Given the description of an element on the screen output the (x, y) to click on. 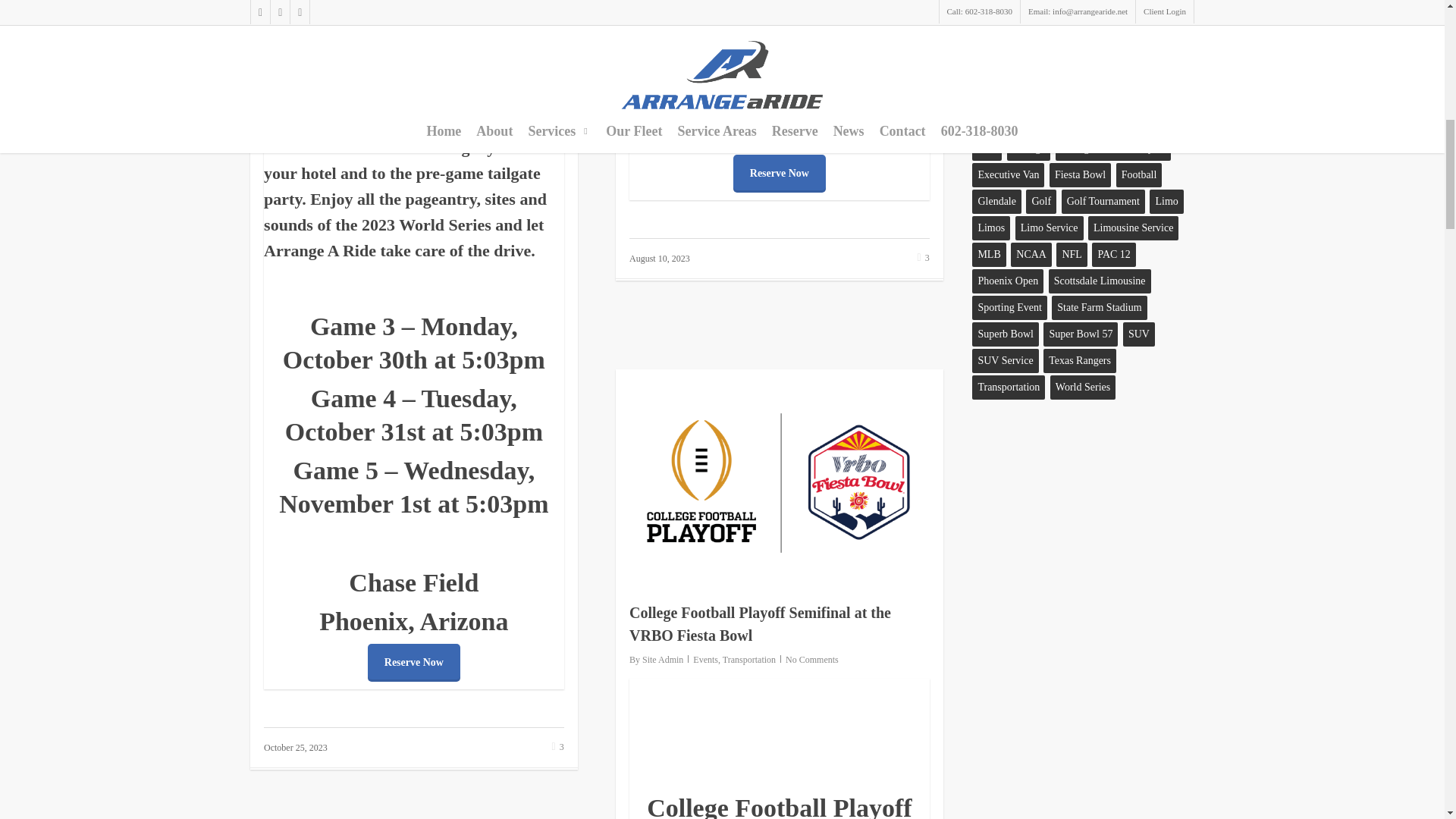
Love this (923, 257)
Reserve Now (414, 662)
College Football Playoff Semifinal at the VRBO Fiesta Bowl (759, 623)
Posts by Site Admin (662, 659)
Site Admin (662, 659)
Reserve Now (779, 173)
3 (557, 747)
3 (923, 257)
Love this (557, 747)
